Given the description of an element on the screen output the (x, y) to click on. 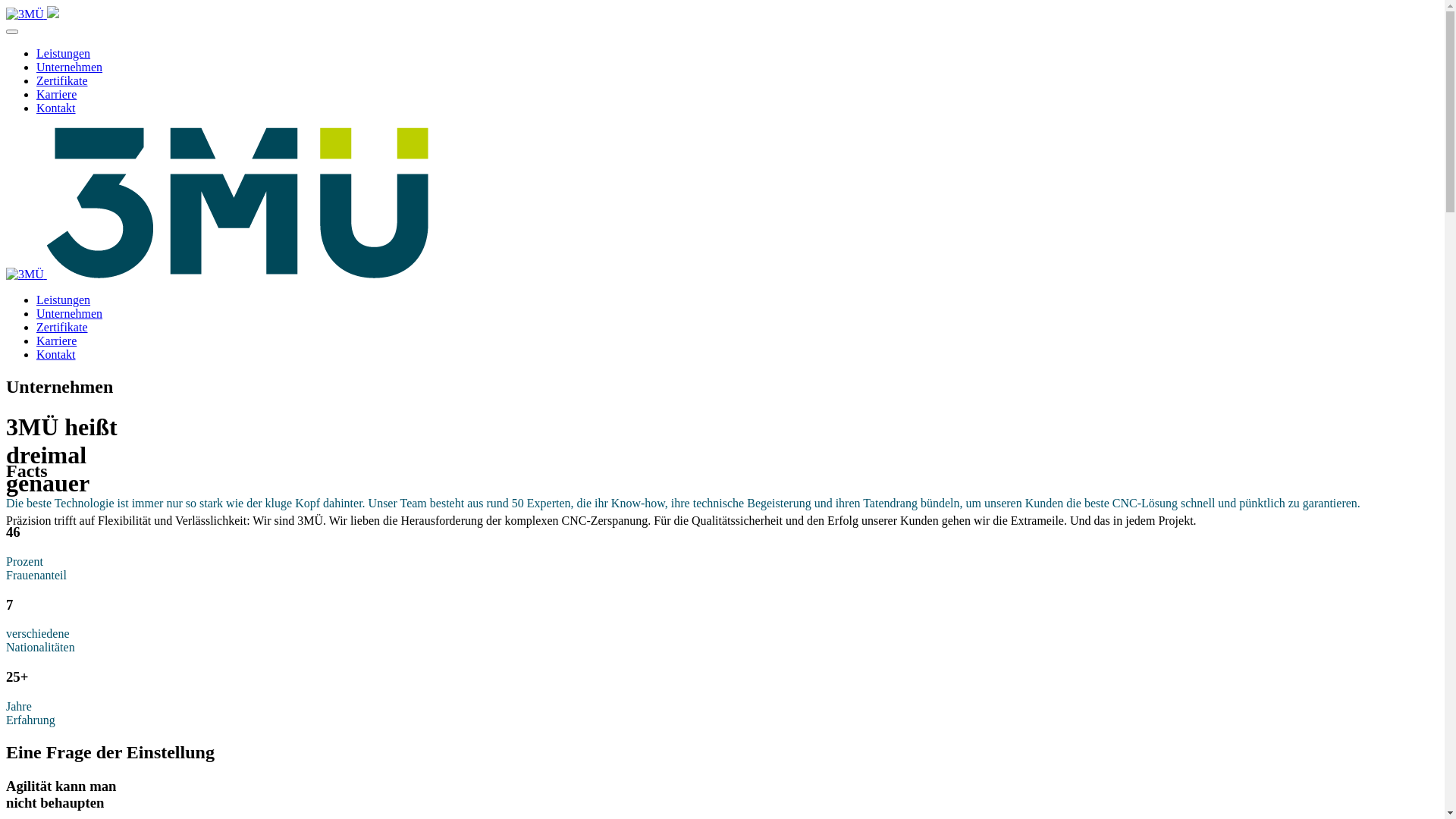
Karriere Element type: text (56, 340)
Kontakt Element type: text (55, 107)
Zertifikate Element type: text (61, 326)
Leistungen Element type: text (63, 53)
Karriere Element type: text (56, 93)
Zertifikate Element type: text (61, 80)
Unternehmen Element type: text (69, 313)
Unternehmen Element type: text (69, 66)
Kontakt Element type: text (55, 354)
Leistungen Element type: text (63, 299)
